Given the description of an element on the screen output the (x, y) to click on. 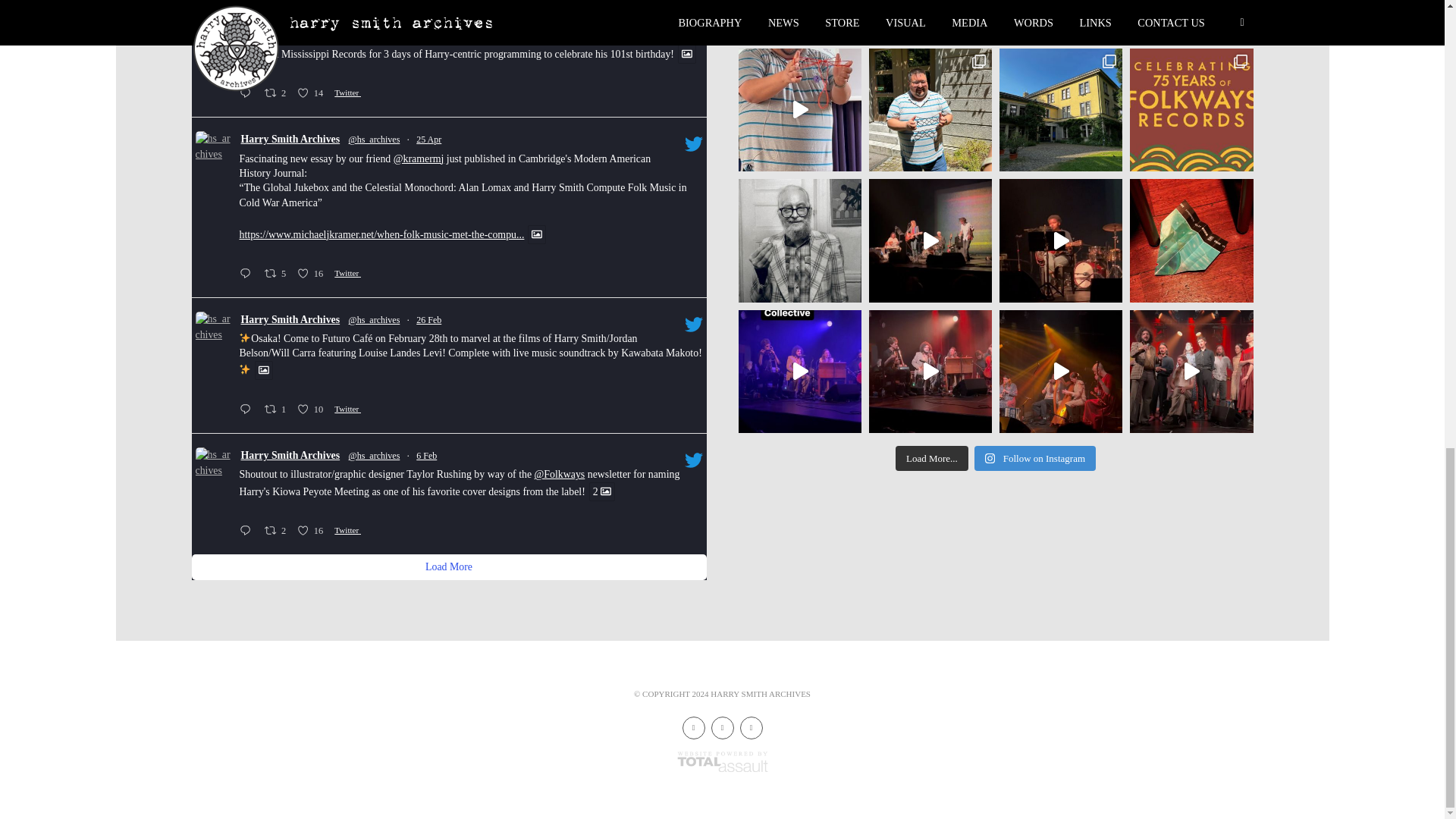
Reply on Twitter 1789034254141386801 (247, 94)
Twitter (721, 727)
Instagram (693, 727)
Youtube (750, 727)
